Given the description of an element on the screen output the (x, y) to click on. 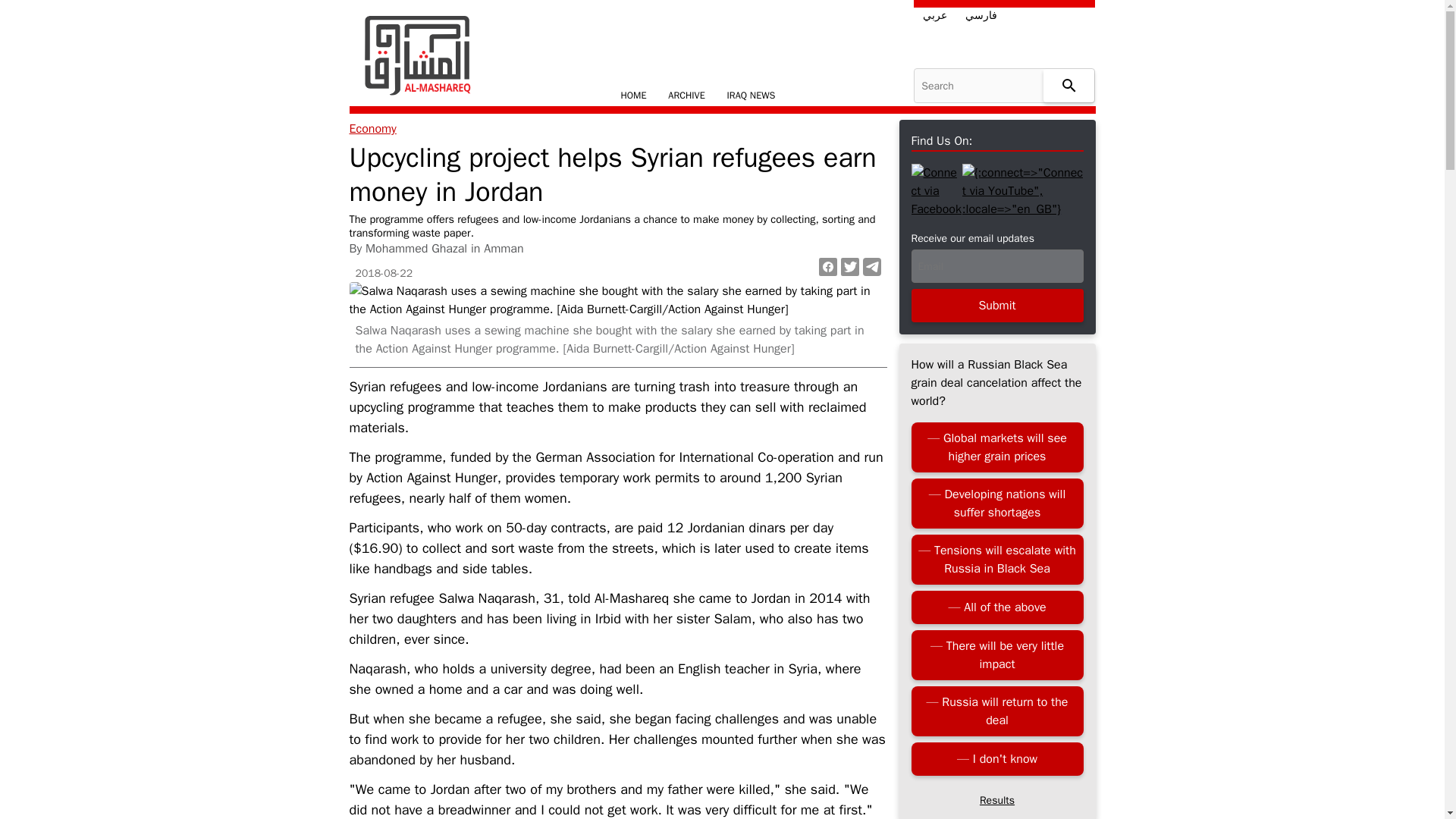
ARCHIVE (686, 95)
Economy (372, 128)
HOME (633, 95)
